Given the description of an element on the screen output the (x, y) to click on. 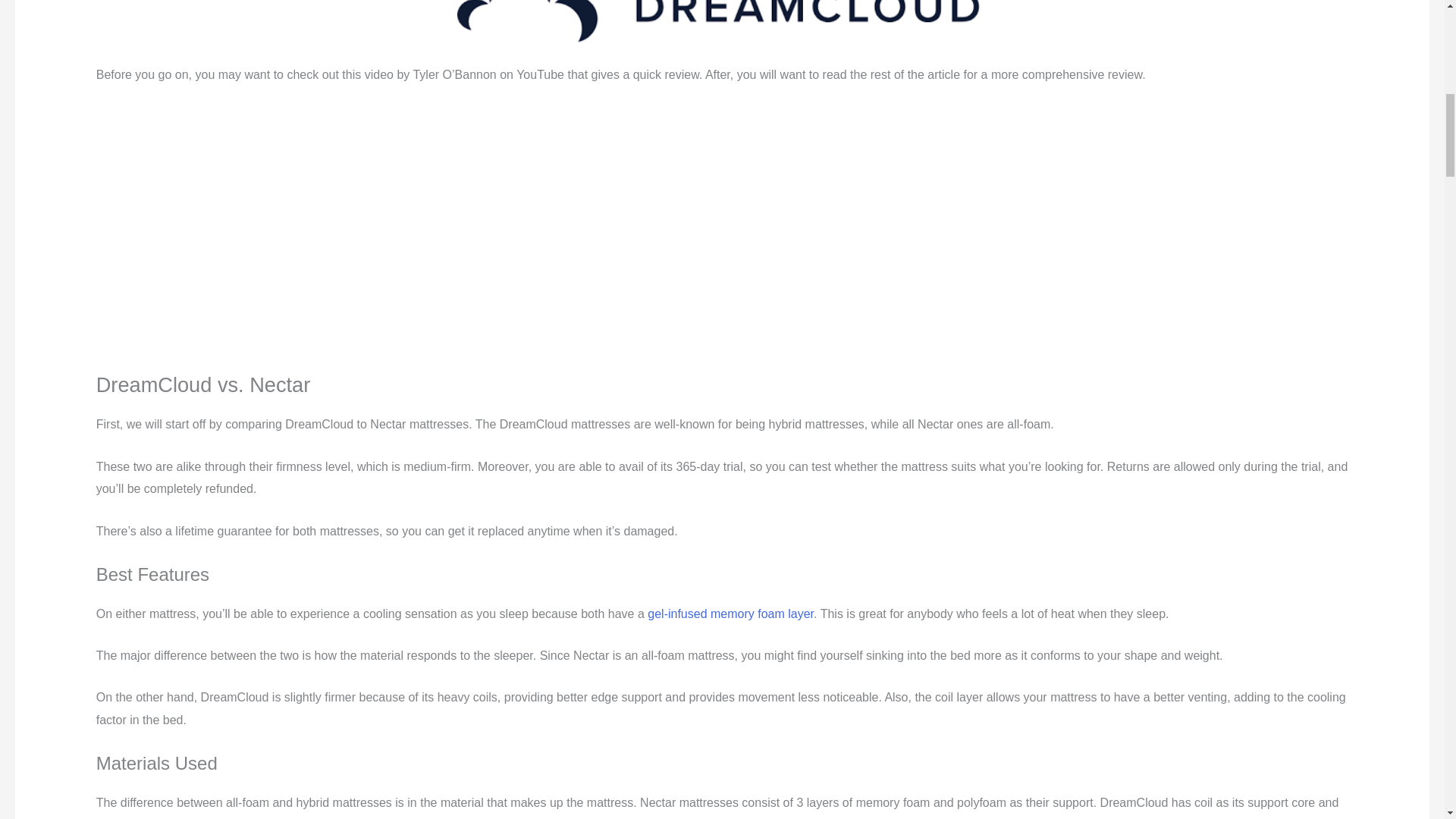
YouTube video player (308, 225)
gel-infused memory foam layer (730, 612)
